Given the description of an element on the screen output the (x, y) to click on. 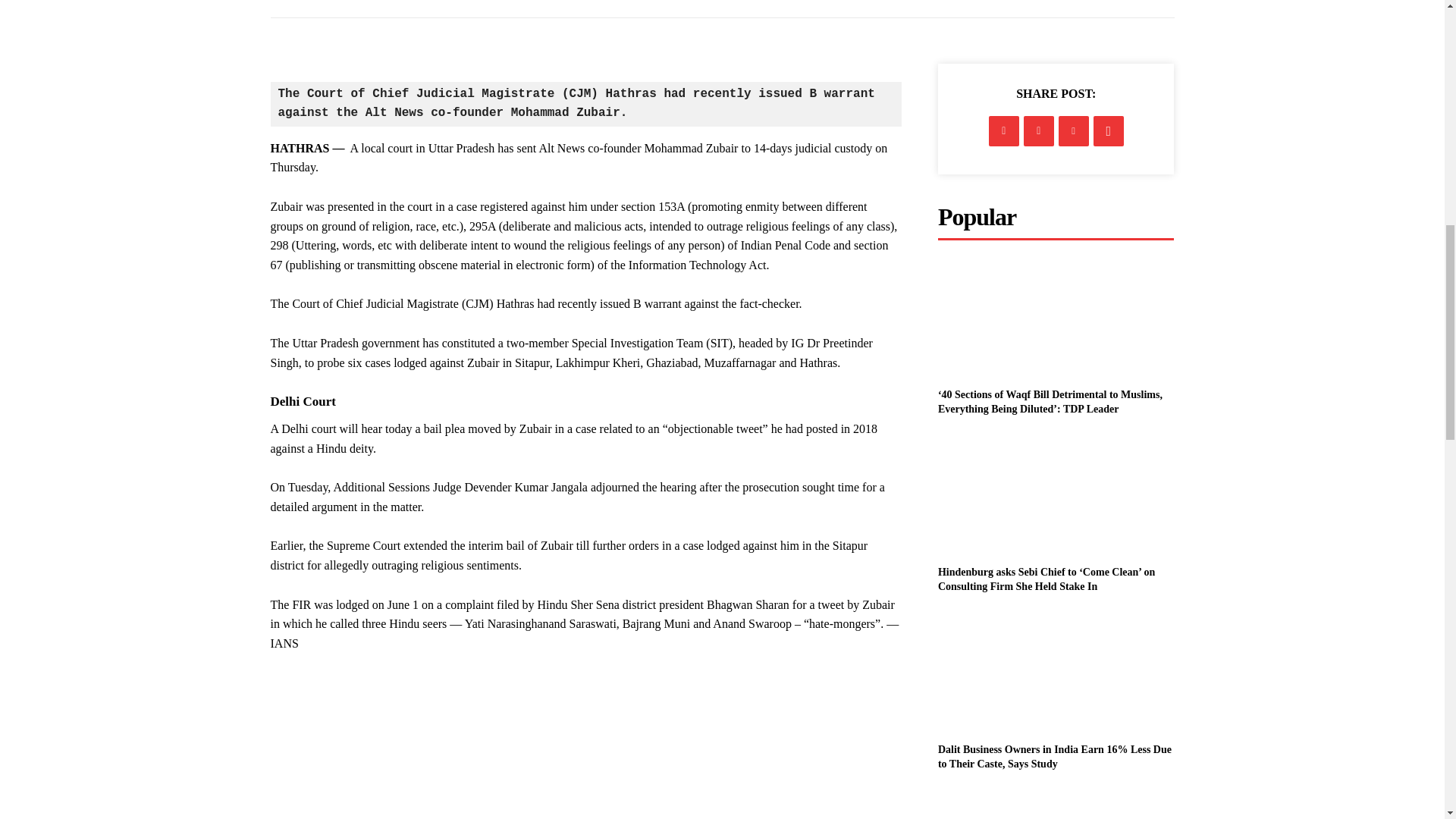
Pinterest (1073, 131)
Facebook (1003, 131)
Twitter (1038, 131)
